Given the description of an element on the screen output the (x, y) to click on. 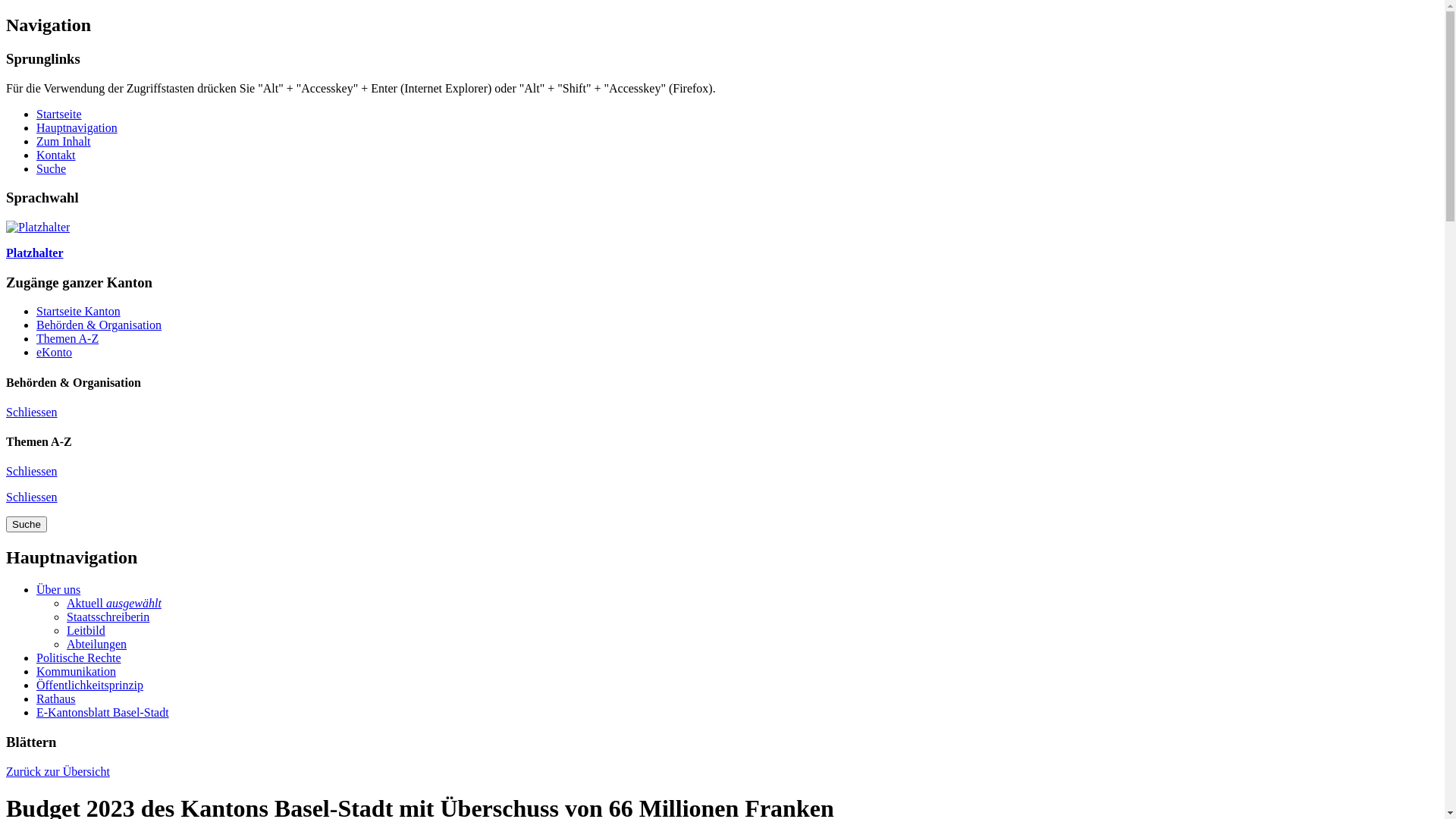
Startseite Kanton Element type: text (78, 310)
Suche Element type: text (26, 524)
Rathaus Element type: text (55, 698)
Politische Rechte Element type: text (78, 657)
Staatsschreiberin Element type: text (107, 616)
Schliessen Element type: text (31, 470)
Abteilungen Element type: text (96, 643)
Zum Inhalt Element type: text (63, 140)
Startseite Element type: text (58, 113)
eKonto Element type: text (54, 351)
Themen A-Z Element type: text (67, 338)
Leitbild Element type: text (85, 630)
Suche Element type: text (50, 168)
Schliessen Element type: text (31, 496)
Hauptnavigation Element type: text (76, 127)
Schliessen Element type: text (31, 411)
Platzhalter Element type: text (722, 240)
Kontakt Element type: text (55, 154)
Kommunikation Element type: text (76, 671)
E-Kantonsblatt Basel-Stadt Element type: text (102, 712)
